Given the description of an element on the screen output the (x, y) to click on. 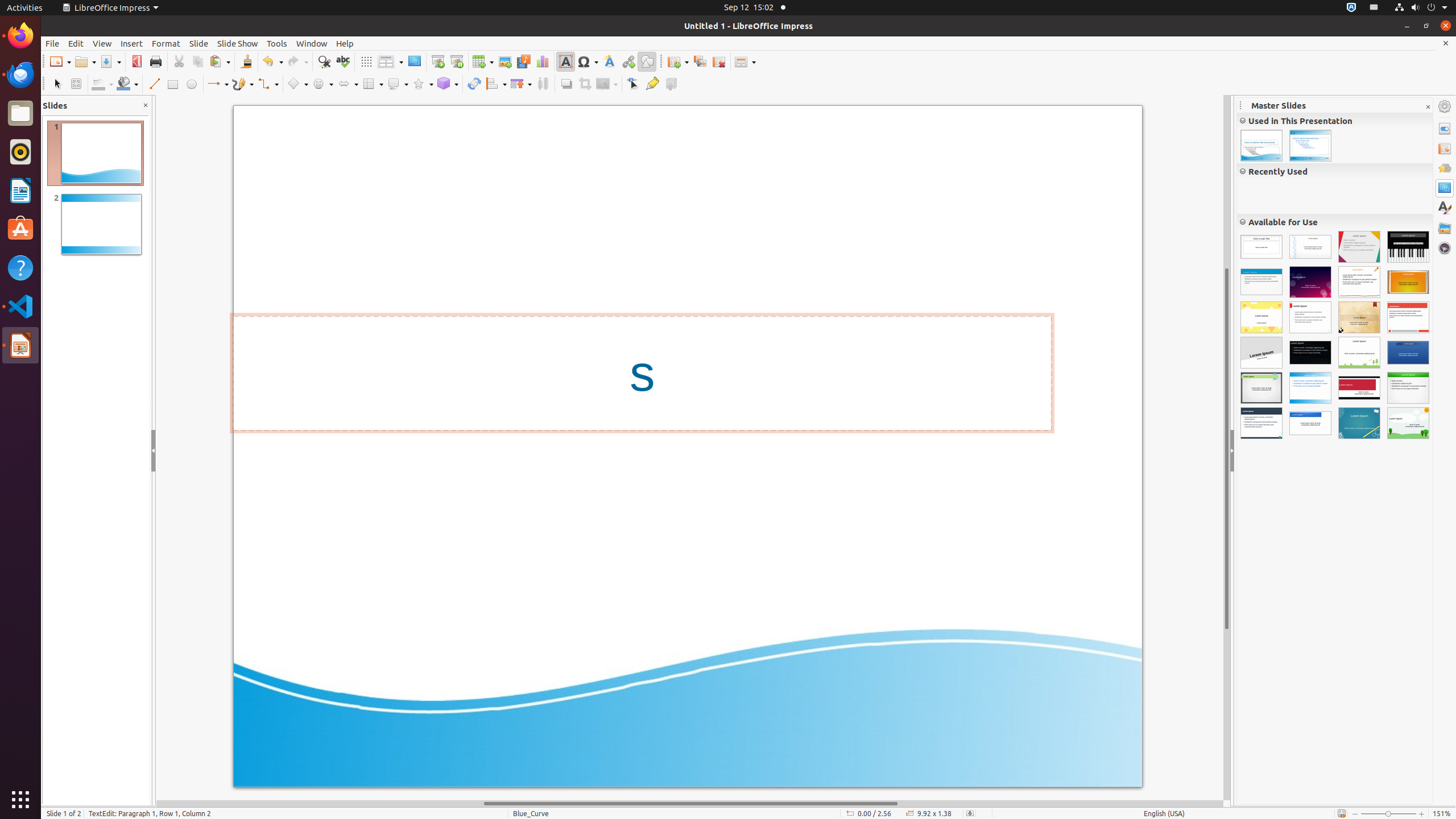
Crop Element type: push-button (584, 83)
Rotate Element type: push-button (473, 83)
Basic Shapes Element type: push-button (296, 83)
:1.21/StatusNotifierItem Element type: menu (1373, 7)
Callout Shapes Element type: push-button (397, 83)
